Given the description of an element on the screen output the (x, y) to click on. 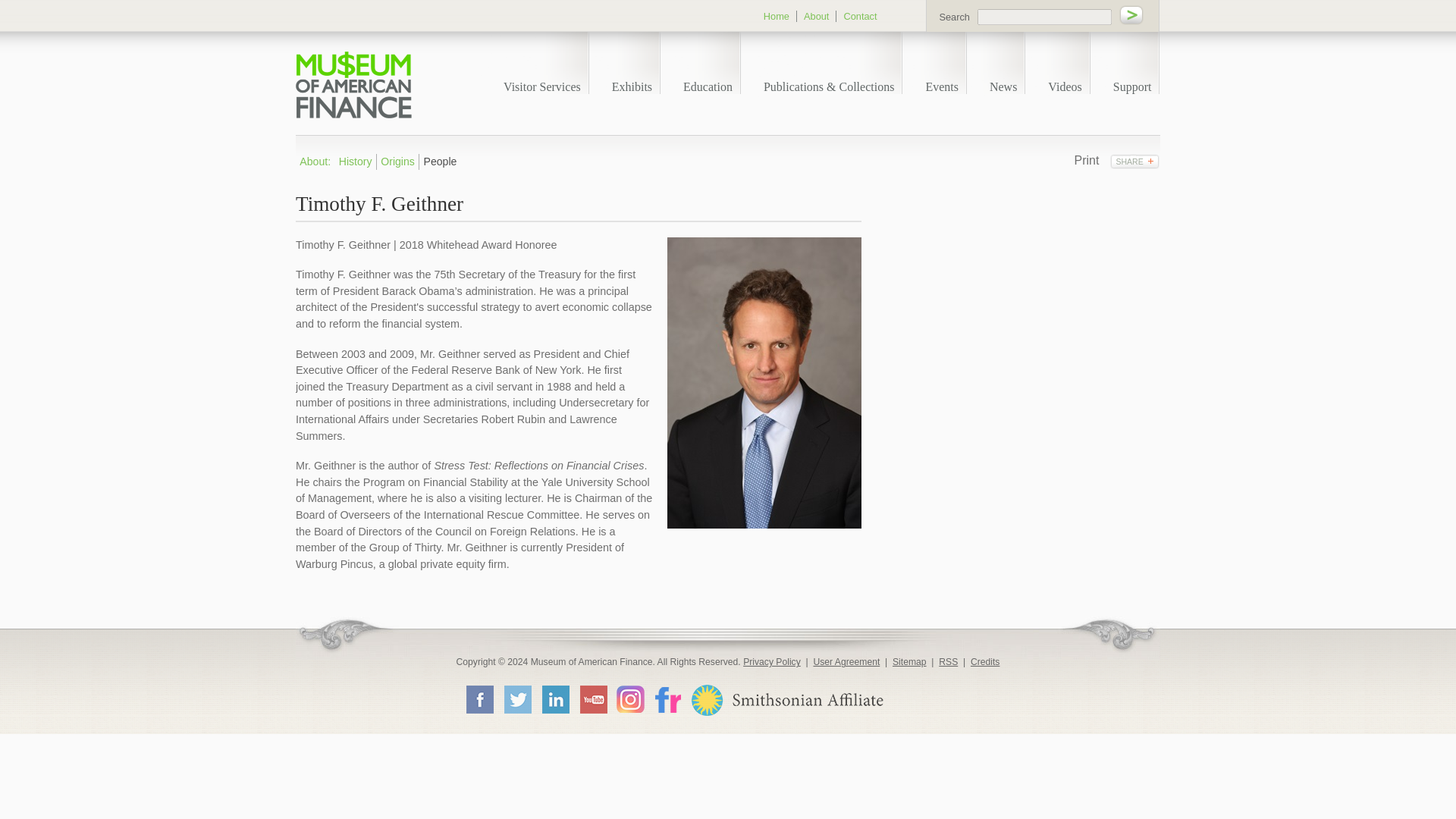
Social Media (1133, 160)
query (1044, 17)
Museum of American Finance (353, 84)
print (1086, 160)
